Given the description of an element on the screen output the (x, y) to click on. 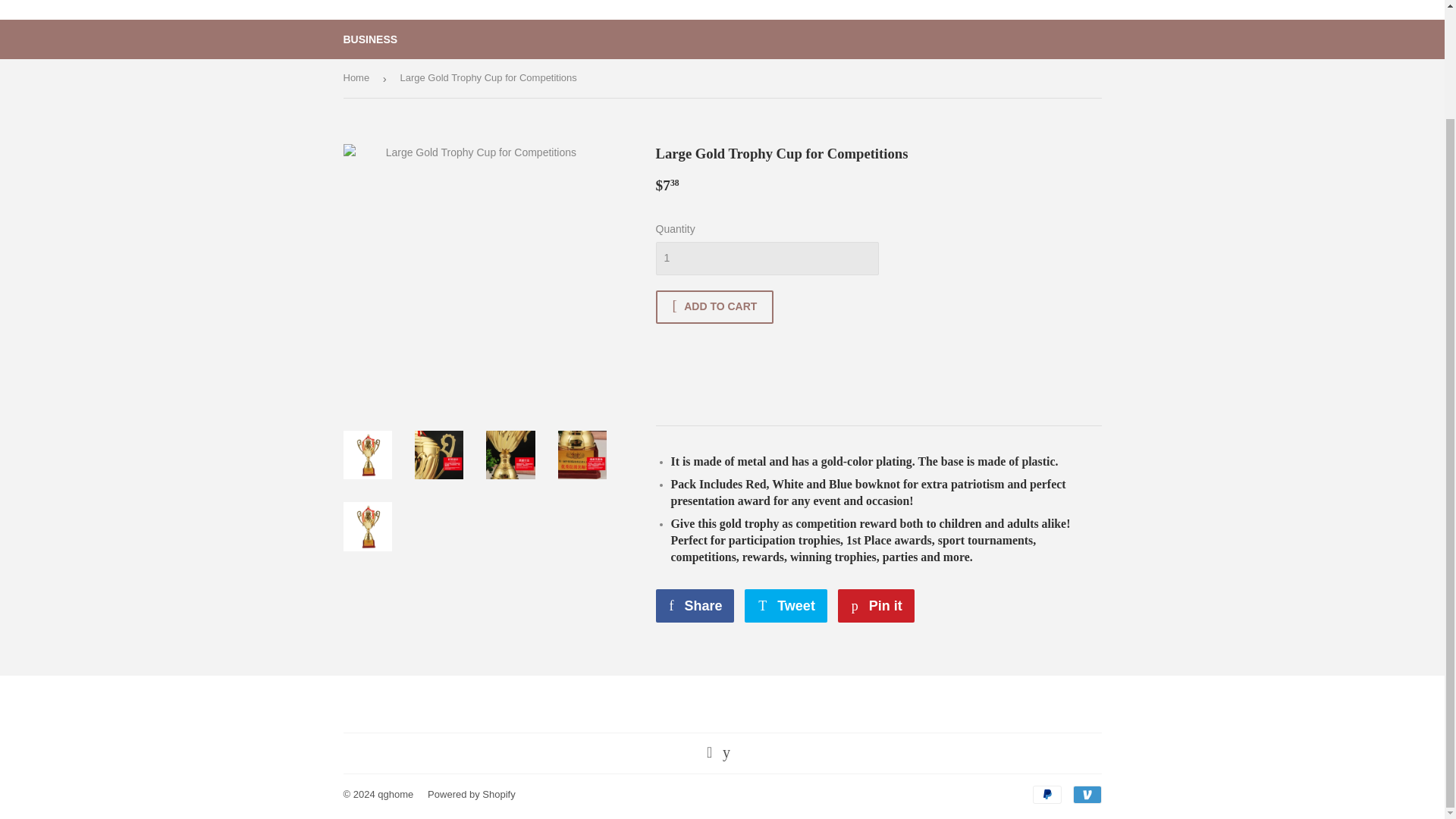
Pin on Pinterest (876, 605)
Tweet on Twitter (785, 605)
Venmo (785, 605)
1 (1085, 794)
PayPal (876, 605)
Powered by Shopify (766, 258)
BUSINESS (1046, 794)
